Given the description of an element on the screen output the (x, y) to click on. 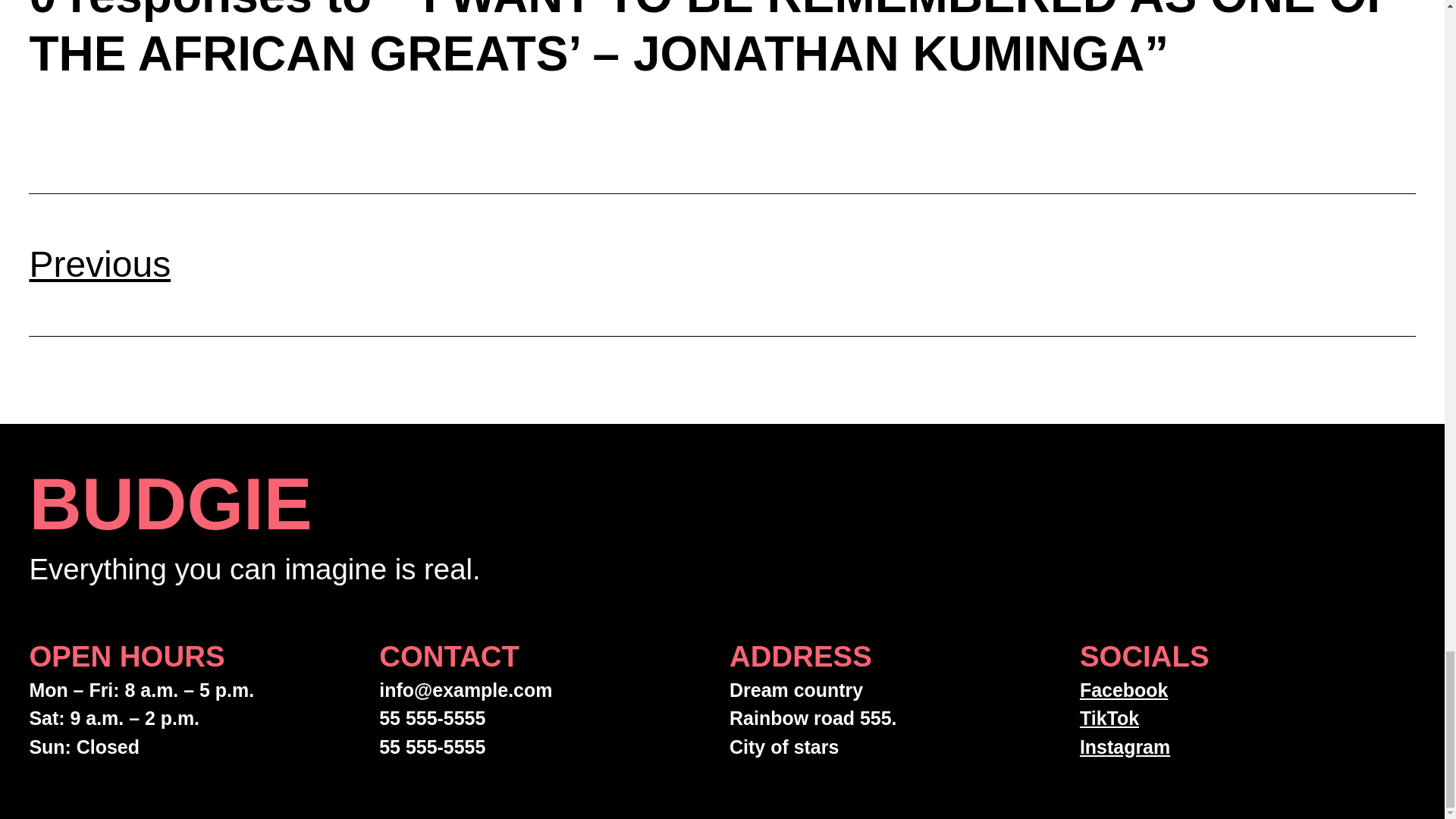
Instagram (1125, 746)
TikTok (1109, 717)
Previous (99, 264)
Facebook (1123, 690)
